Given the description of an element on the screen output the (x, y) to click on. 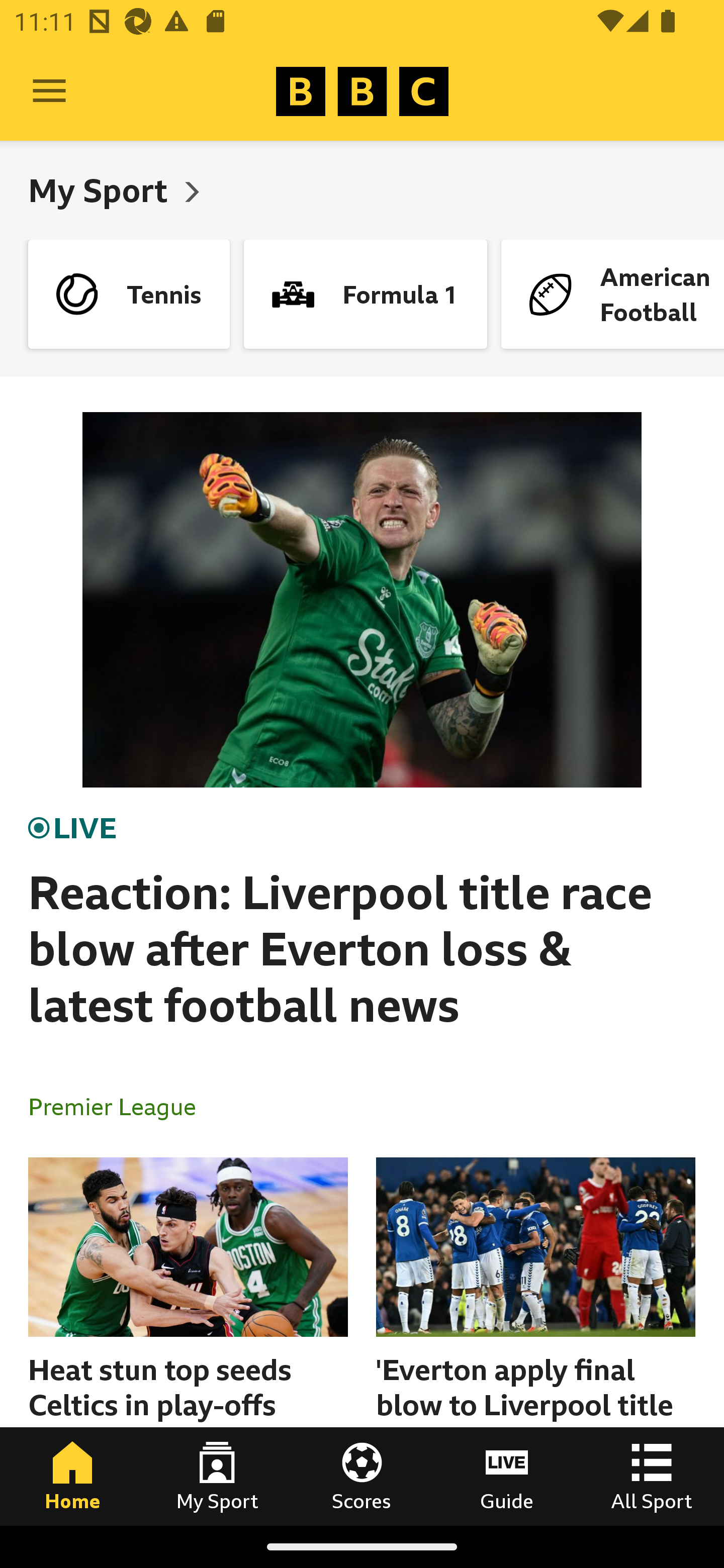
Open Menu (49, 91)
My Sport (101, 190)
Premier League In the section Premier League (119, 1106)
My Sport (216, 1475)
Scores (361, 1475)
Guide (506, 1475)
All Sport (651, 1475)
